Given the description of an element on the screen output the (x, y) to click on. 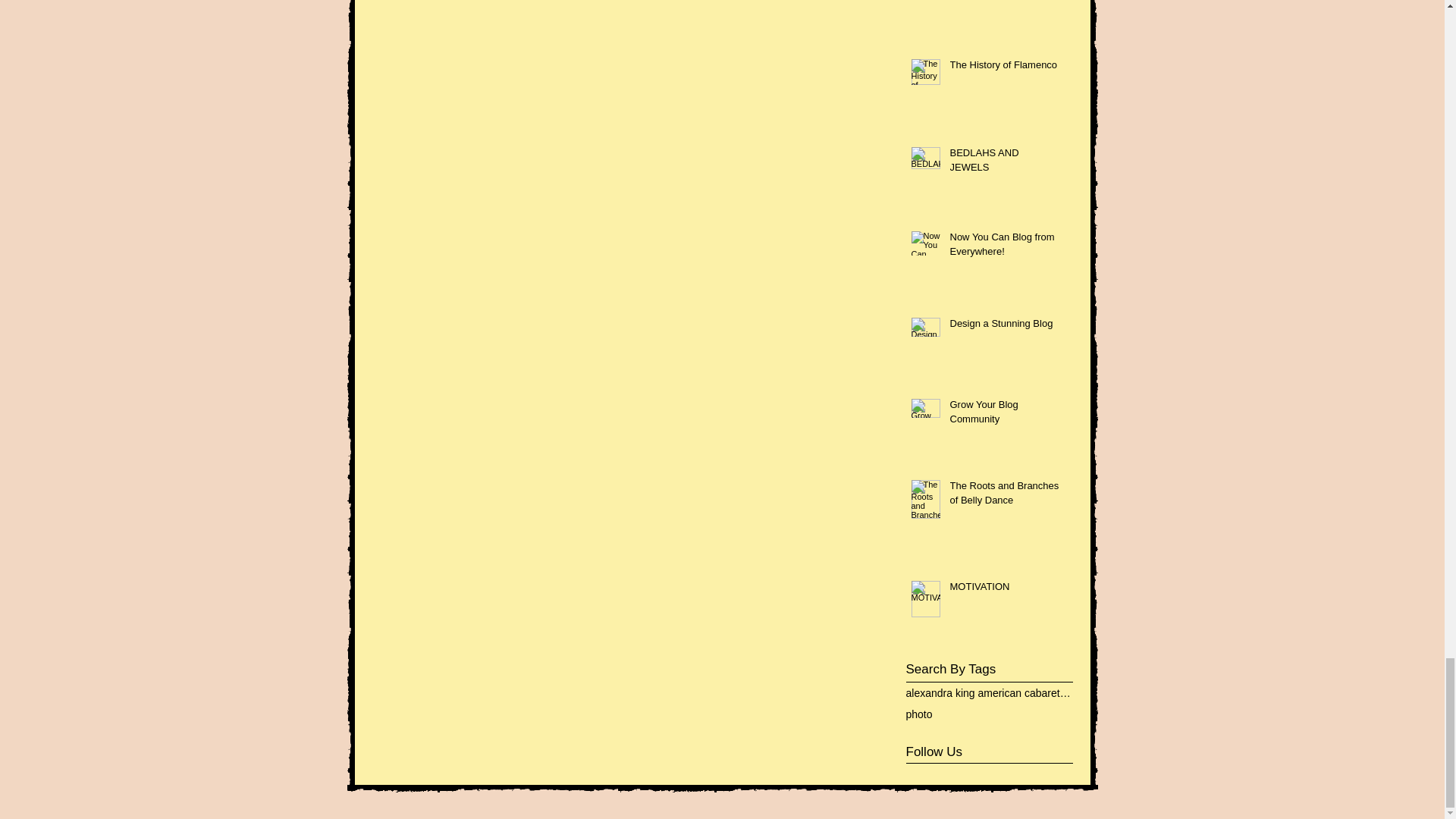
Now You Can Blog from Everywhere! (1003, 246)
The History of Flamenco (1003, 67)
BEDLAHS AND JEWELS (1003, 162)
Design a Stunning Blog (1003, 326)
KOCHEK - The Ancient Art of being LGBTQ (1003, 2)
photo (918, 714)
The Roots and Branches of Belly Dance (1003, 495)
Grow Your Blog Community (1003, 414)
MOTIVATION (1003, 589)
alexandra king american cabaret belly dance (988, 693)
